Given the description of an element on the screen output the (x, y) to click on. 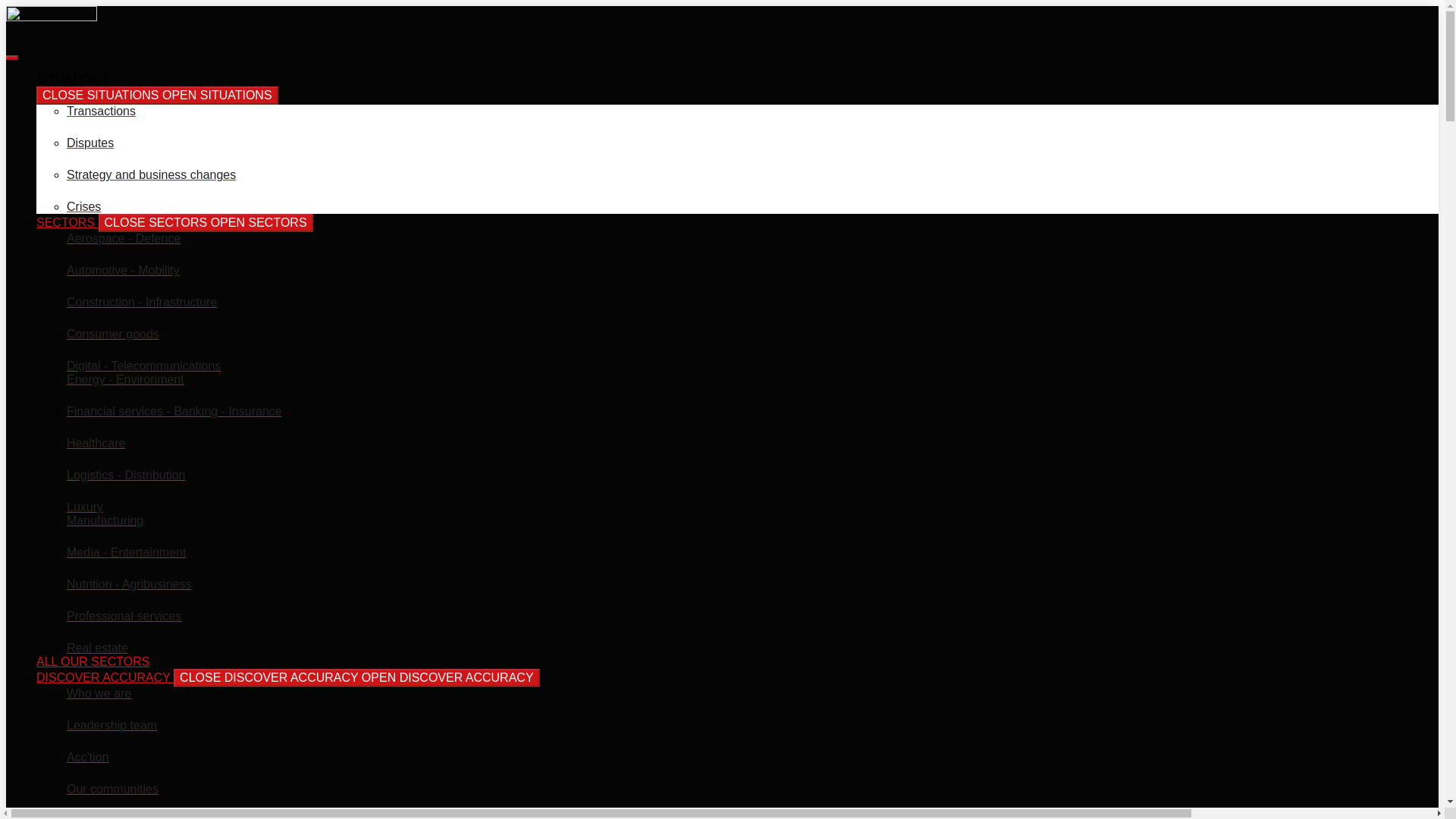
CLOSE DISCOVER ACCURACY OPEN DISCOVER ACCURACY (356, 678)
Who we are (98, 693)
Automotive - Mobility (122, 269)
DISCOVER ACCURACY (104, 676)
CLOSE SECTORS OPEN SECTORS (206, 222)
SECTORS (67, 222)
Crises (83, 205)
Energy - Environment (125, 379)
Nutrition - Agribusiness (129, 584)
